Given the description of an element on the screen output the (x, y) to click on. 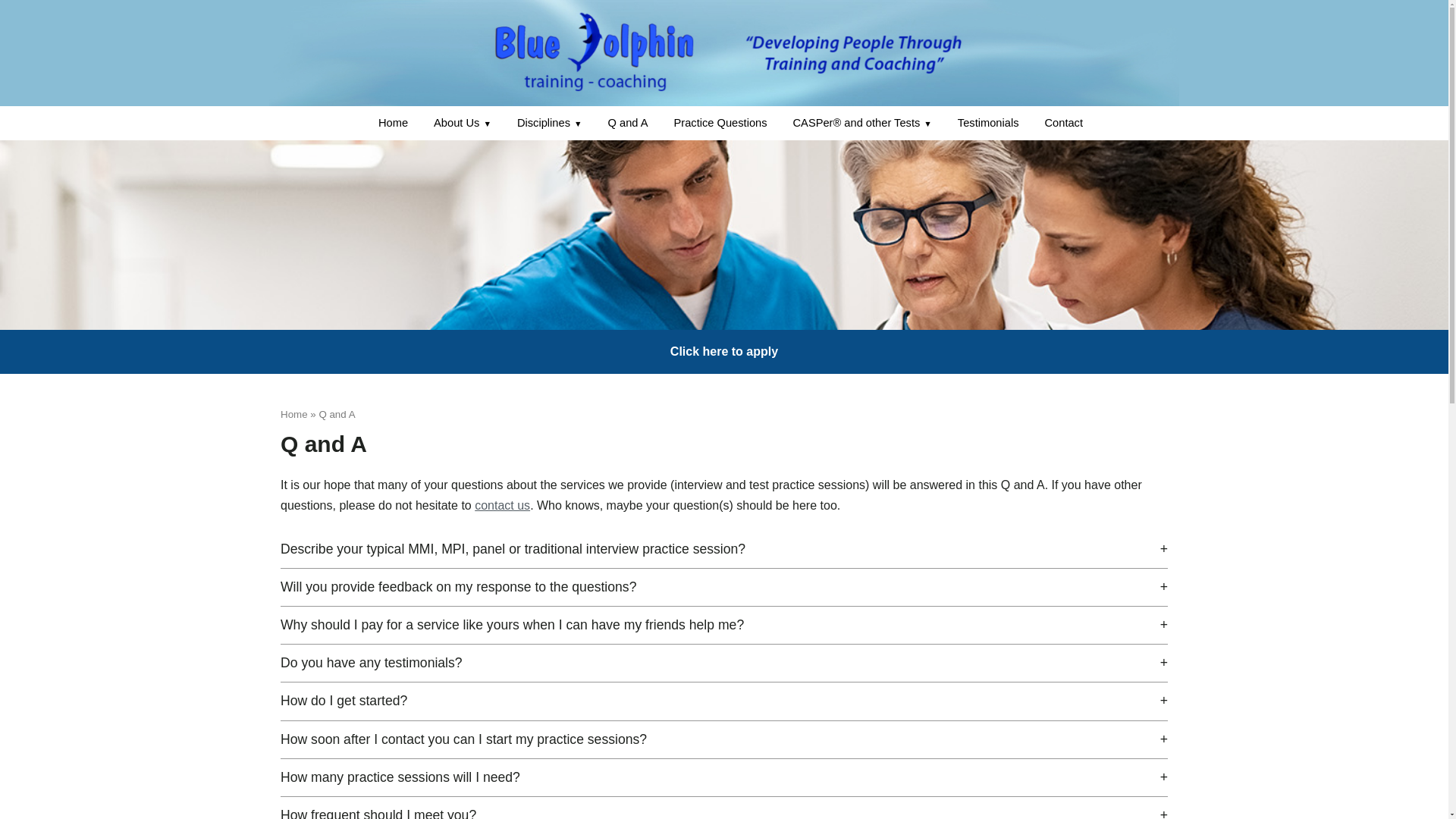
About Us (461, 122)
Home (392, 122)
Disciplines (549, 122)
